Given the description of an element on the screen output the (x, y) to click on. 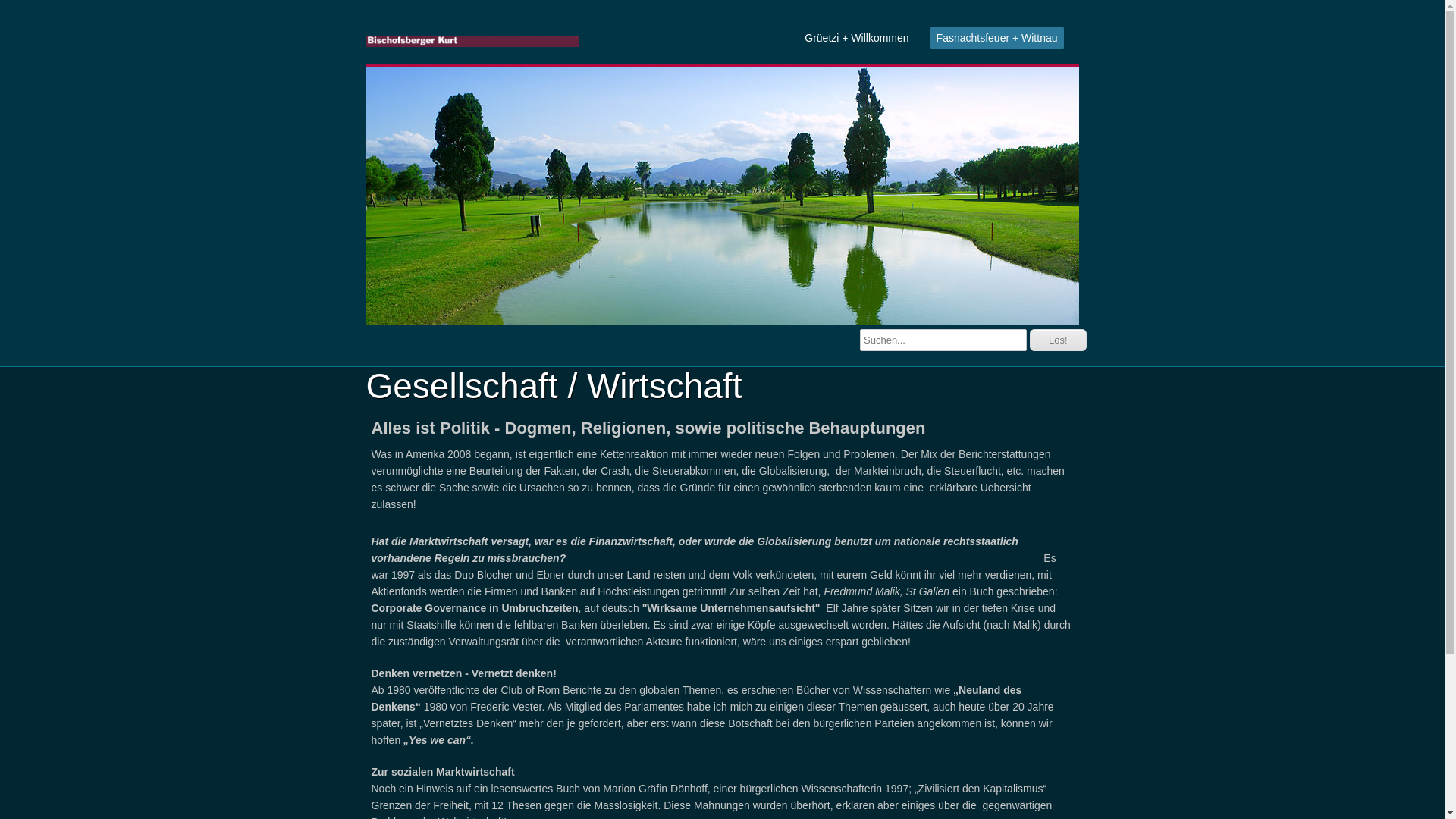
Los! Element type: text (1057, 340)
Fasnachtsfeuer + Wittnau Element type: text (996, 37)
